Given the description of an element on the screen output the (x, y) to click on. 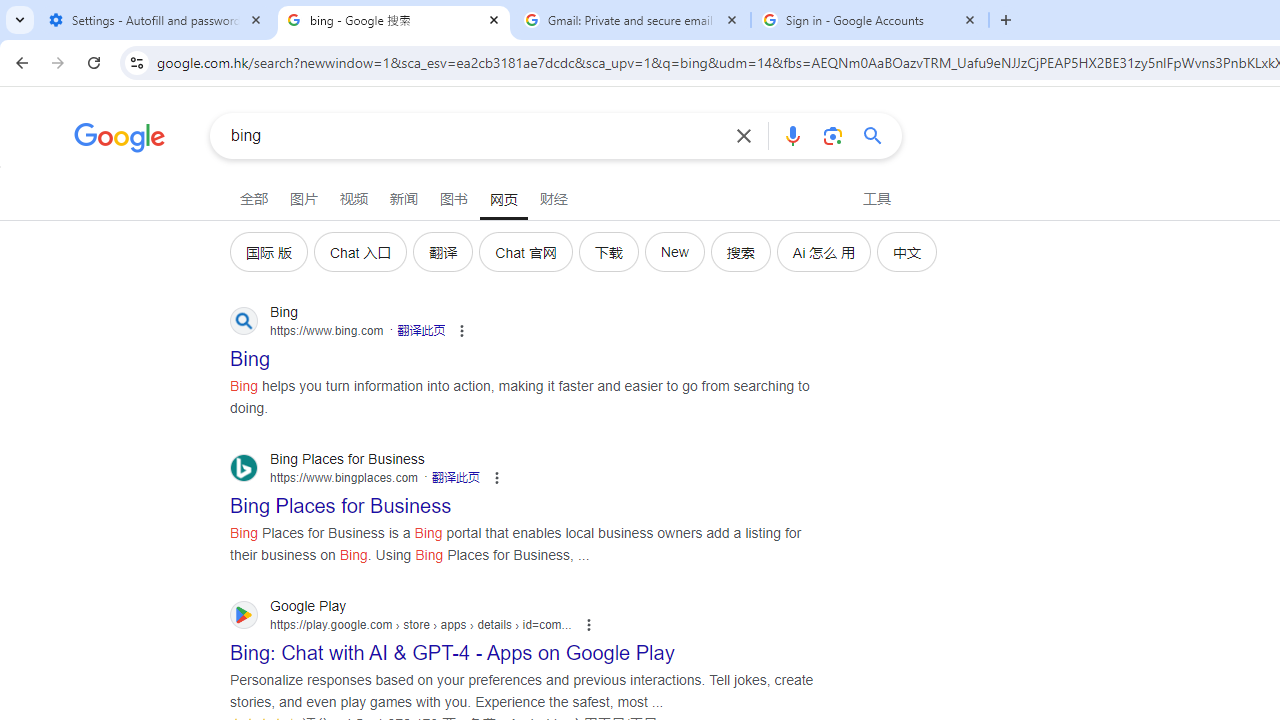
Google (120, 139)
Settings - Autofill and passwords (156, 20)
